Given the description of an element on the screen output the (x, y) to click on. 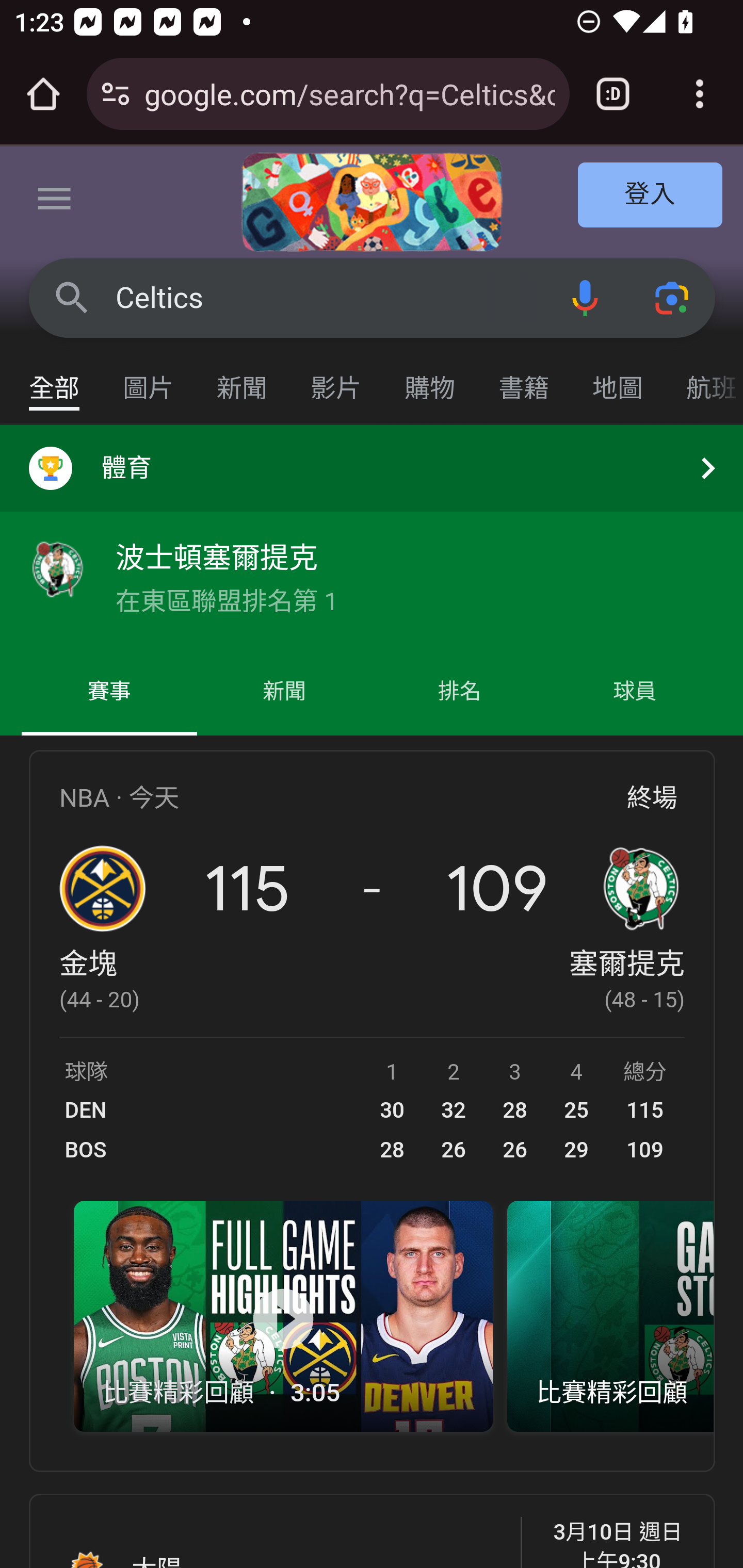
Open the home page (43, 93)
Connection is secure (115, 93)
Switch or close tabs (612, 93)
Customize and control Google Chrome (699, 93)
2024 年國際婦女節 (371, 202)
主選單 (54, 202)
登入 (650, 195)
Google 搜尋 (71, 296)
使用相機或相片搜尋 (672, 296)
Celtics (328, 297)
圖片 (148, 378)
新聞 (242, 378)
影片 (336, 378)
購物 (430, 378)
書籍 (524, 378)
地圖 (618, 378)
航班 (703, 378)
體育 波士頓塞爾提克 在東區聯盟排名第 1 體育 波士頓塞爾提克 在東區聯盟排名第 1 (371, 536)
體育 (371, 467)
賽事 (109, 691)
新聞 (283, 691)
排名 (460, 691)
球員 (634, 691)
